Given the description of an element on the screen output the (x, y) to click on. 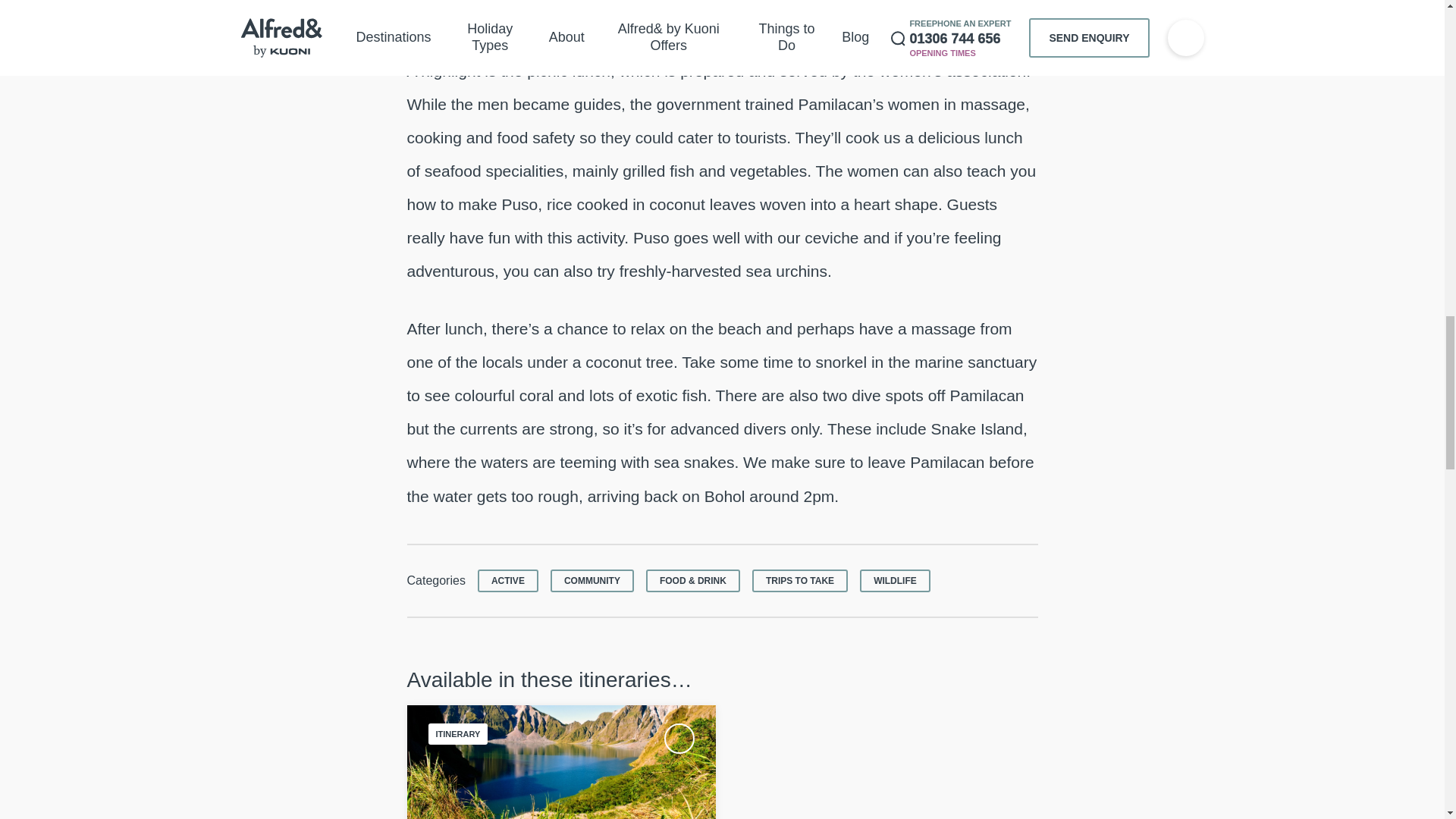
Add to favourites (678, 738)
